Given the description of an element on the screen output the (x, y) to click on. 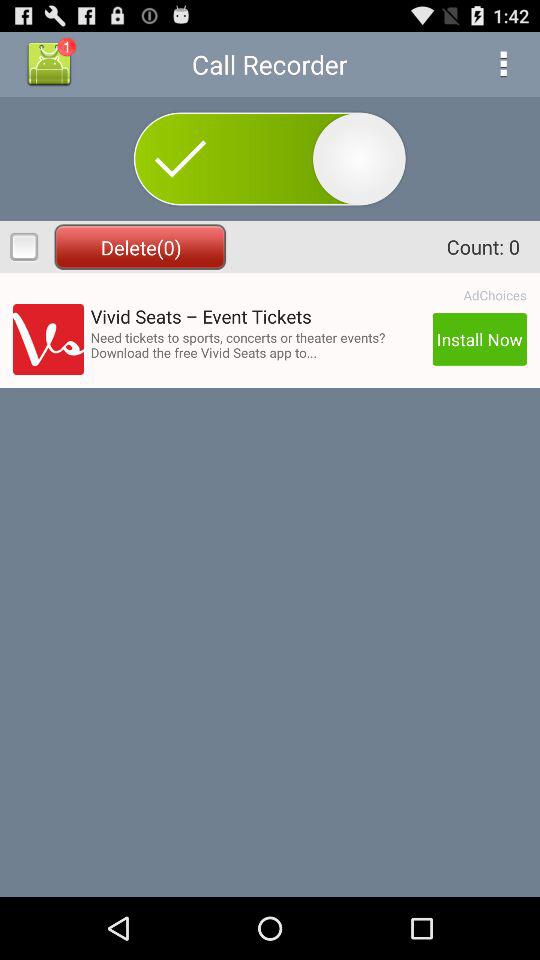
select delete(0) icon (140, 246)
